Given the description of an element on the screen output the (x, y) to click on. 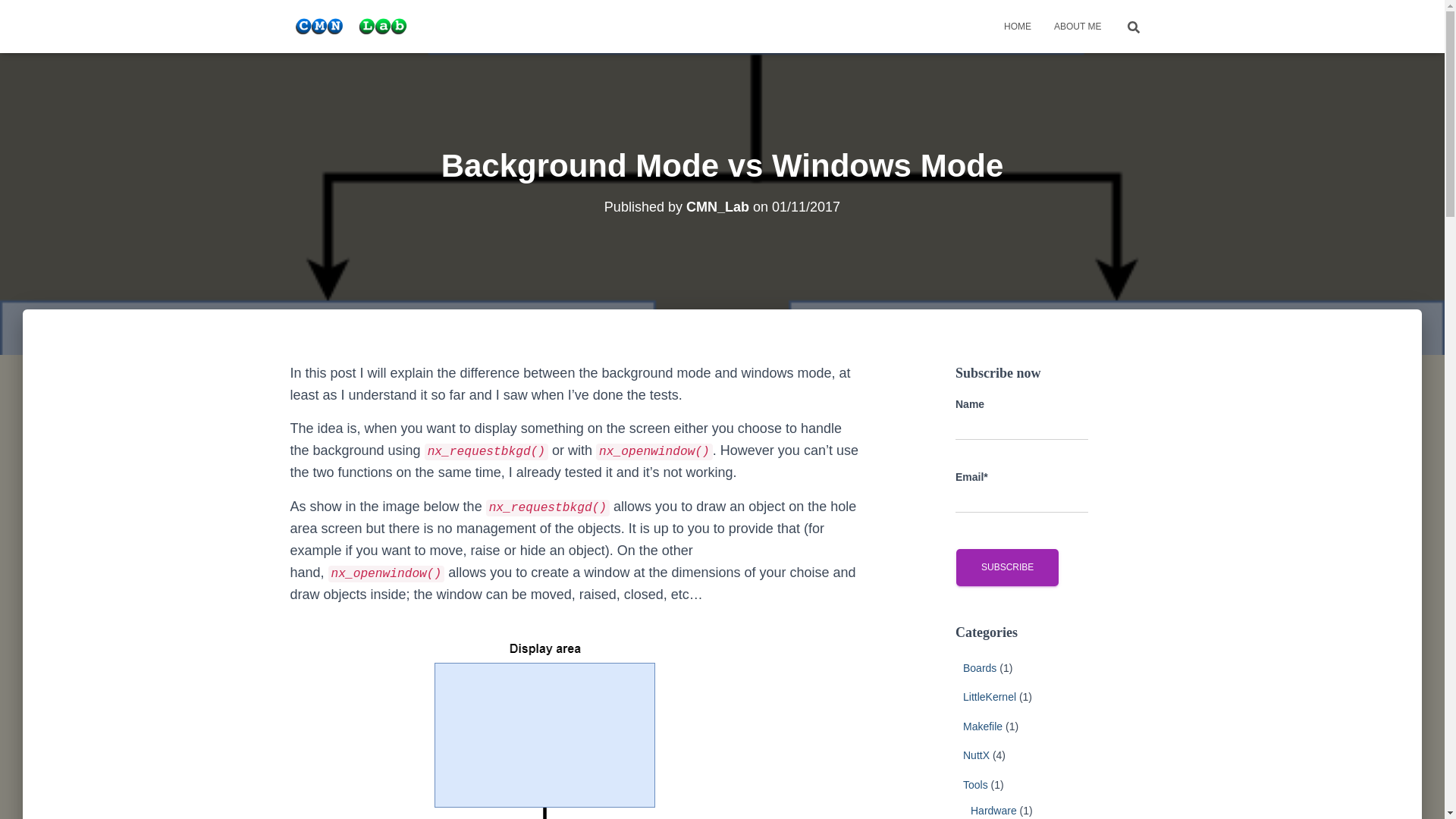
Home (1017, 26)
ABOUT ME (1077, 26)
CMN Lab (351, 26)
Boards (978, 667)
NuttX (976, 755)
Subscribe (1007, 567)
HOME (1017, 26)
Hardware (993, 810)
Tools (975, 784)
LittleKernel (989, 696)
